Given the description of an element on the screen output the (x, y) to click on. 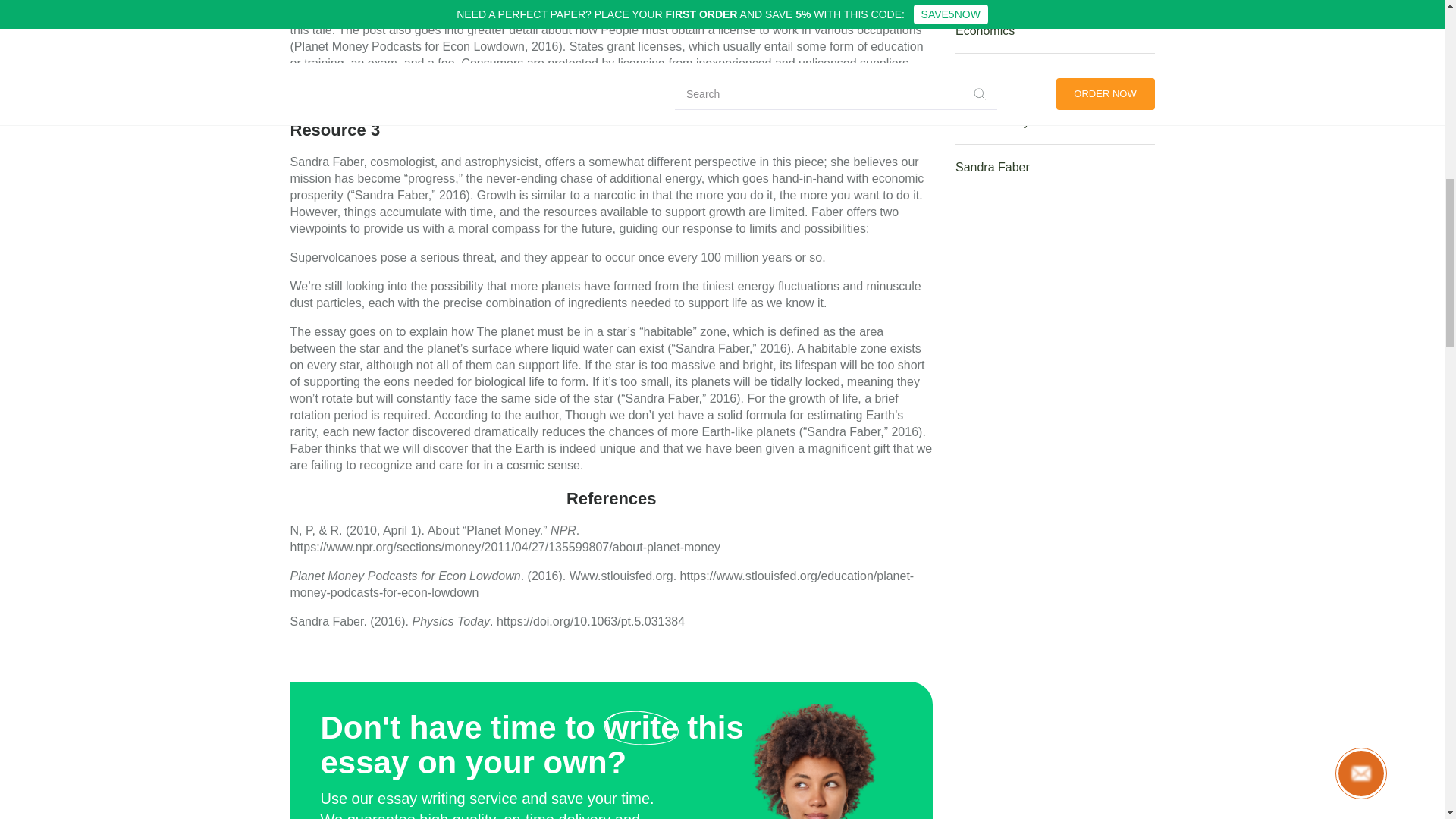
Economic Education (1054, 76)
Sandra Faber (1054, 167)
Economics (1054, 31)
Planet Money (1054, 121)
